Given the description of an element on the screen output the (x, y) to click on. 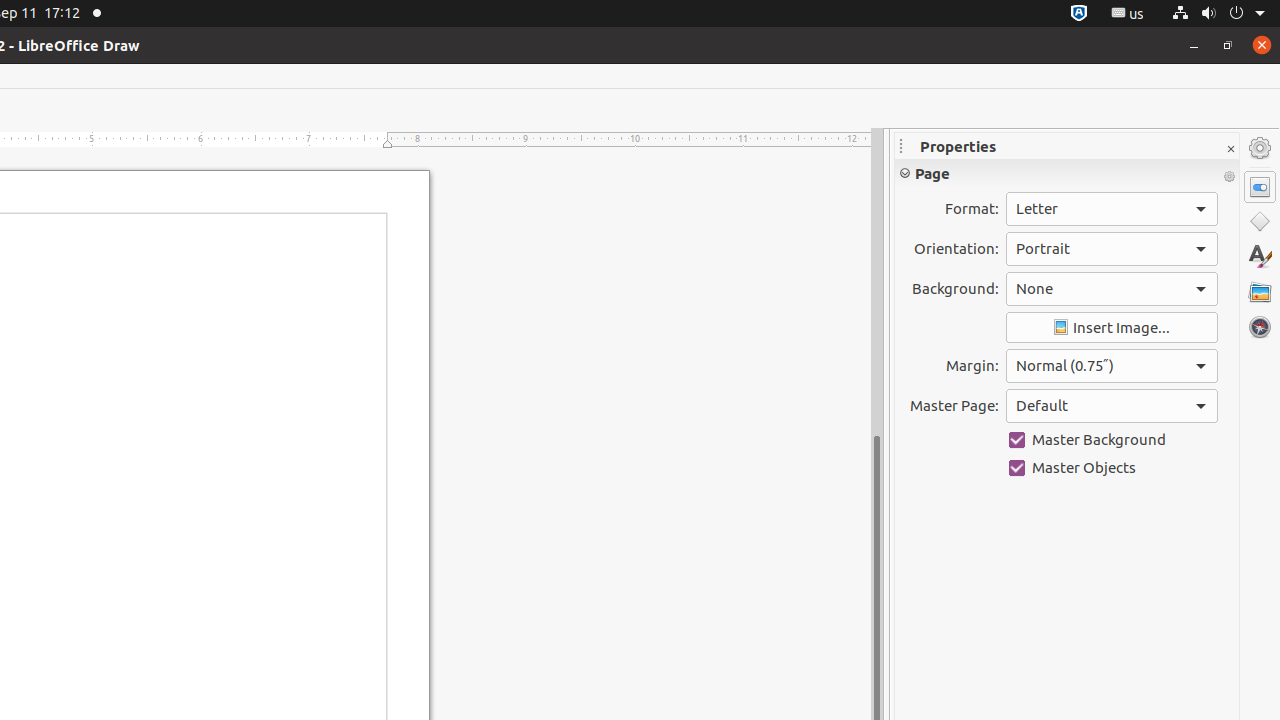
More Options Element type: push-button (1229, 177)
:1.72/StatusNotifierItem Element type: menu (1079, 13)
Insert Image Element type: push-button (1112, 327)
Navigator Element type: radio-button (1260, 327)
Orientation: Element type: combo-box (1112, 249)
